Given the description of an element on the screen output the (x, y) to click on. 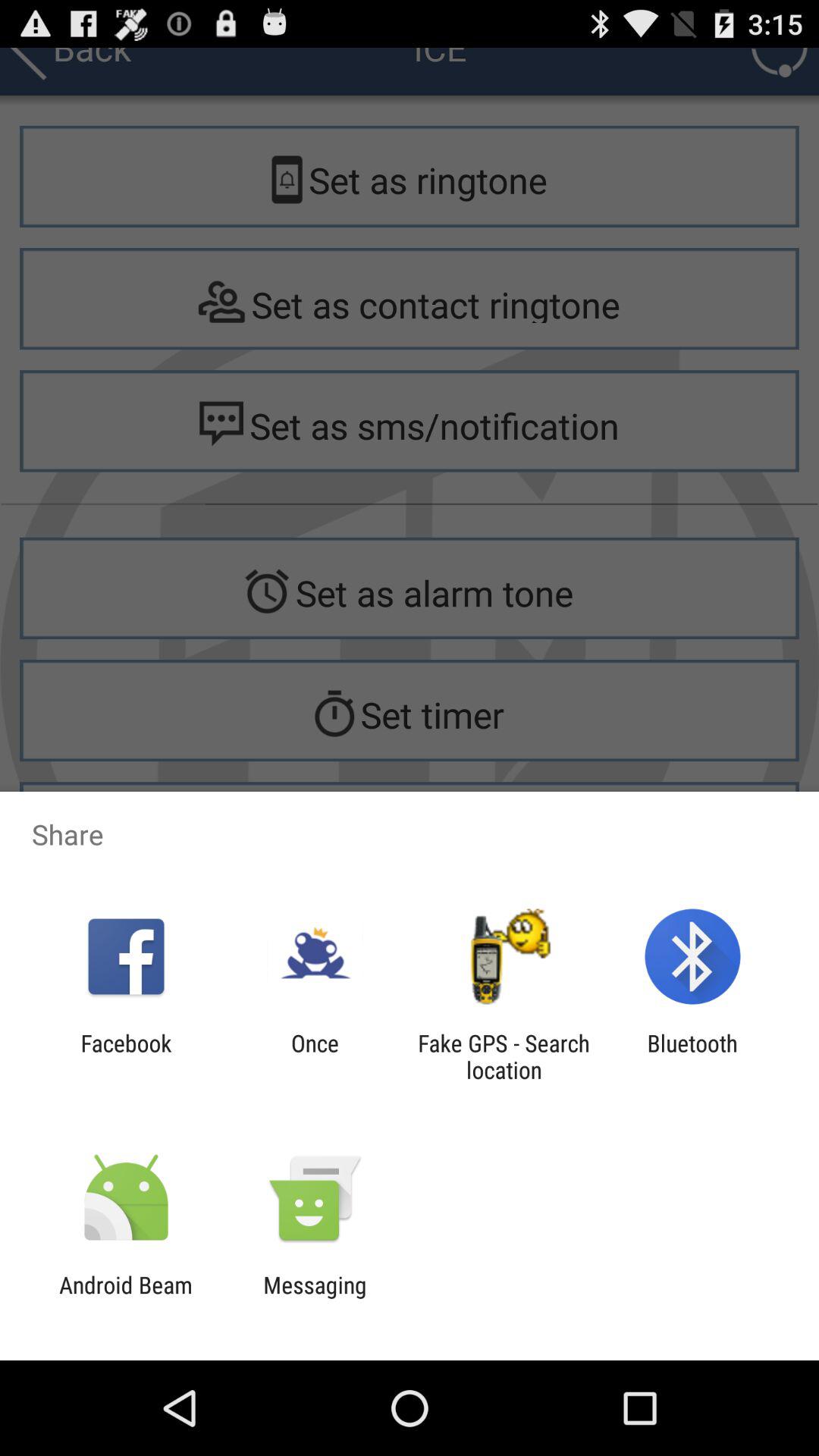
turn off the icon next to the facebook icon (314, 1056)
